Given the description of an element on the screen output the (x, y) to click on. 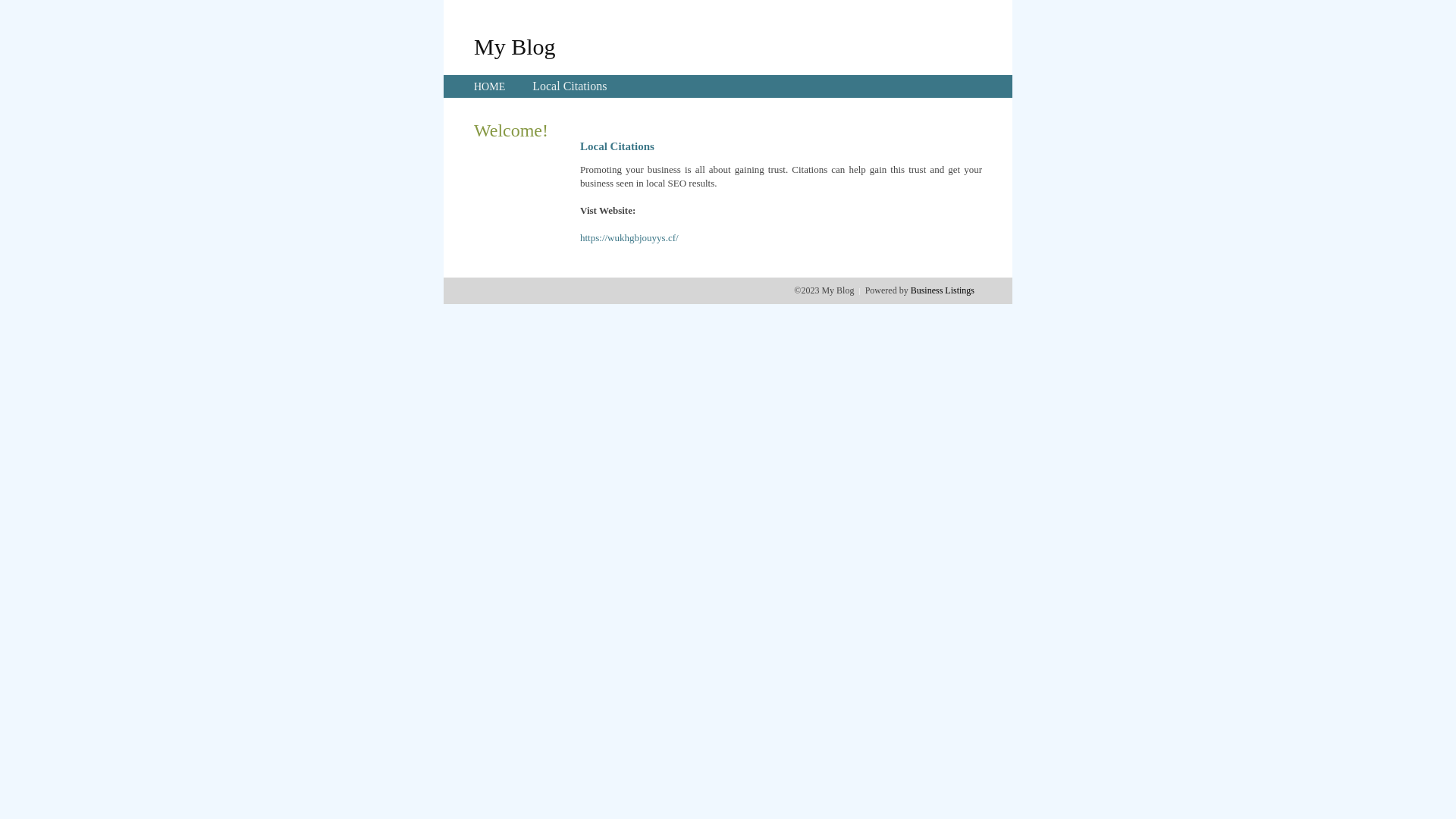
https://wukhgbjouyys.cf/ Element type: text (629, 237)
Business Listings Element type: text (942, 290)
My Blog Element type: text (514, 46)
HOME Element type: text (489, 86)
Local Citations Element type: text (569, 85)
